Given the description of an element on the screen output the (x, y) to click on. 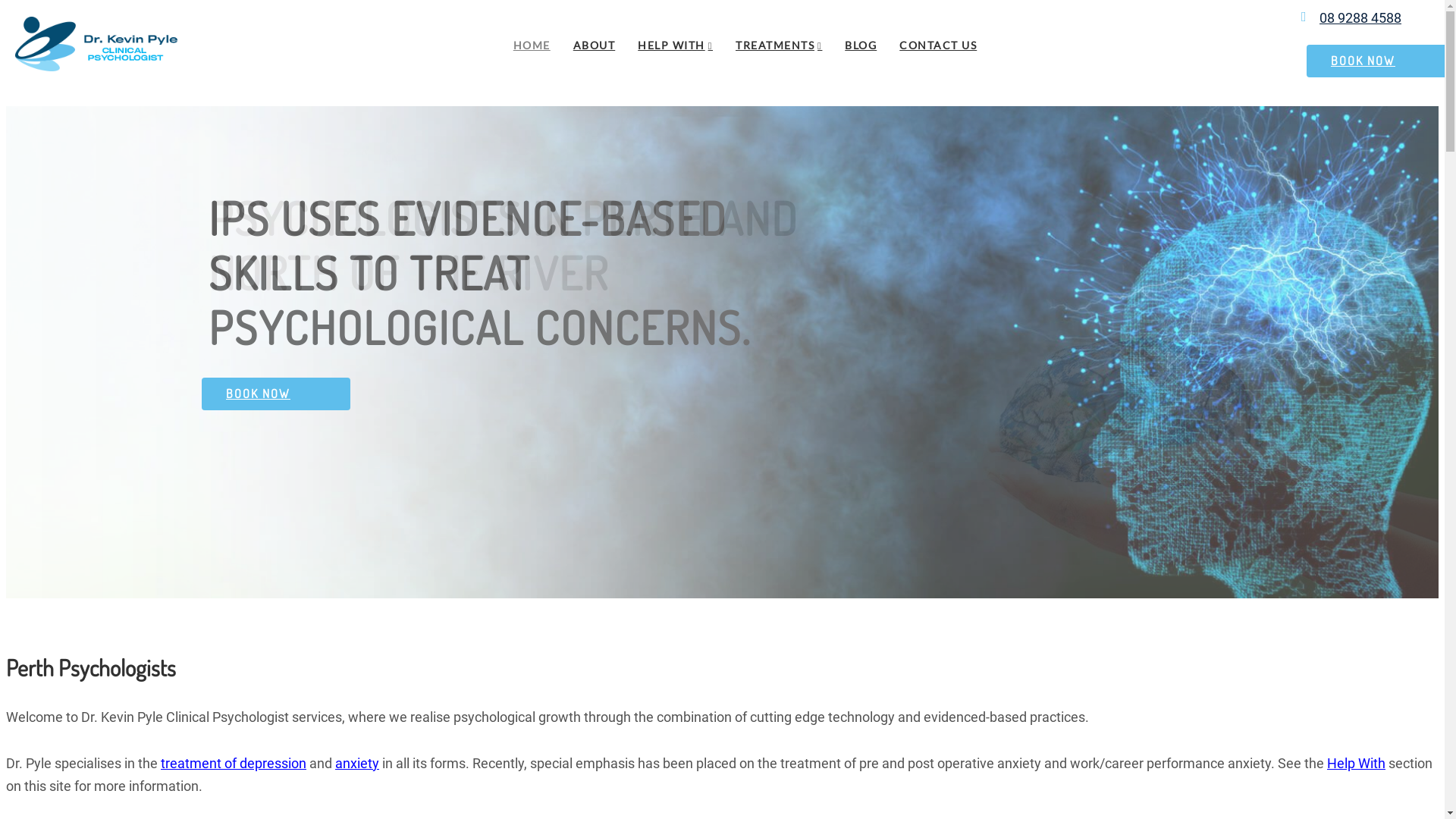
treatment of depression Element type: text (233, 763)
anxiety Element type: text (357, 763)
TREATMENTS Element type: text (778, 45)
Help With Element type: text (1356, 763)
ABOUT Element type: text (594, 44)
HELP WITH Element type: text (674, 45)
BLOG Element type: text (860, 44)
CONTACT US Element type: text (937, 44)
HOME Element type: text (531, 44)
08 9288 4588 Element type: text (1360, 17)
BOOK NOW Element type: text (275, 393)
